Given the description of an element on the screen output the (x, y) to click on. 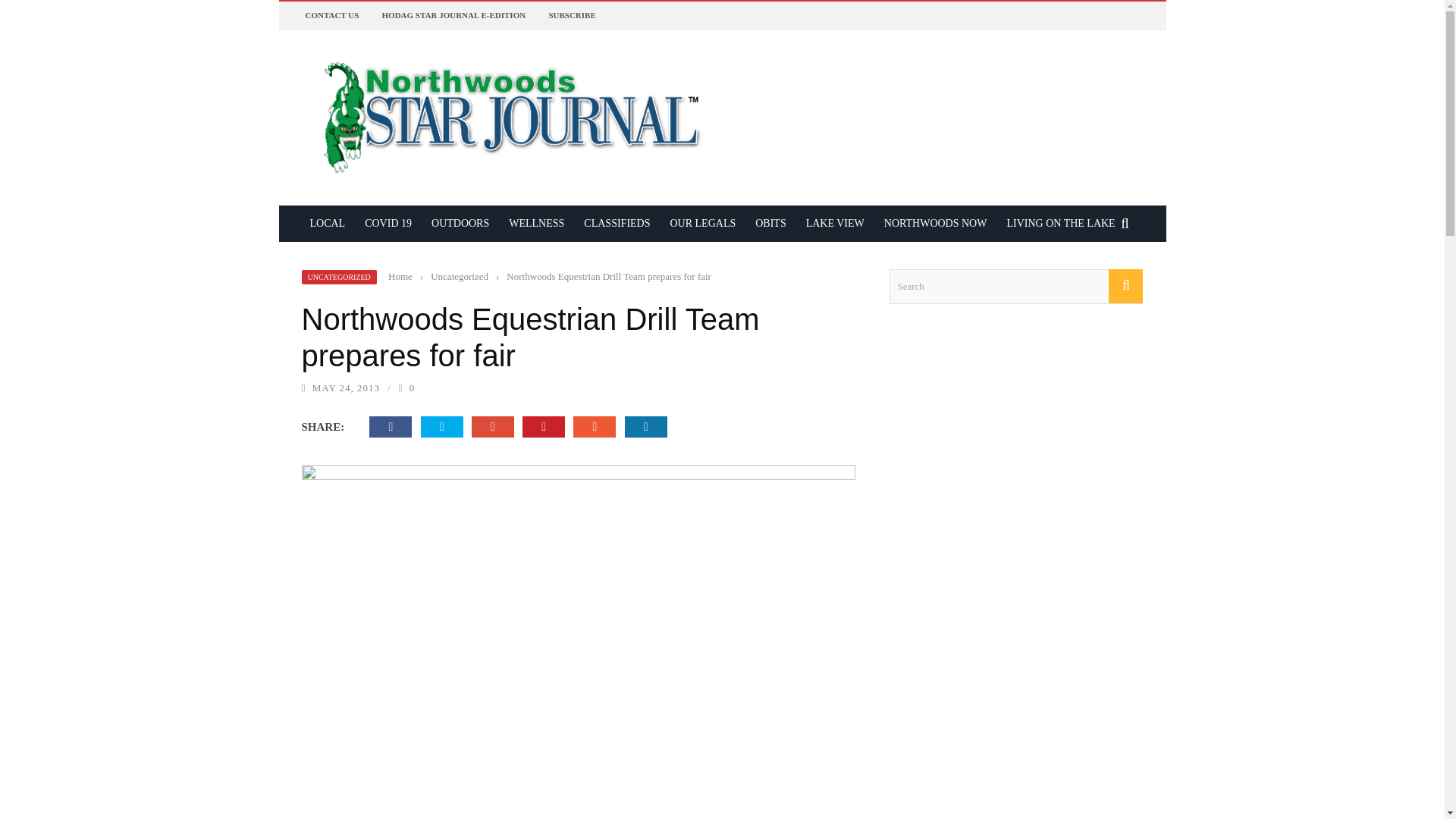
LOCAL (327, 223)
SUBSCRIBE (571, 14)
HODAG STAR JOURNAL E-EDITION (453, 14)
Search (1015, 286)
CONTACT US (331, 14)
